Given the description of an element on the screen output the (x, y) to click on. 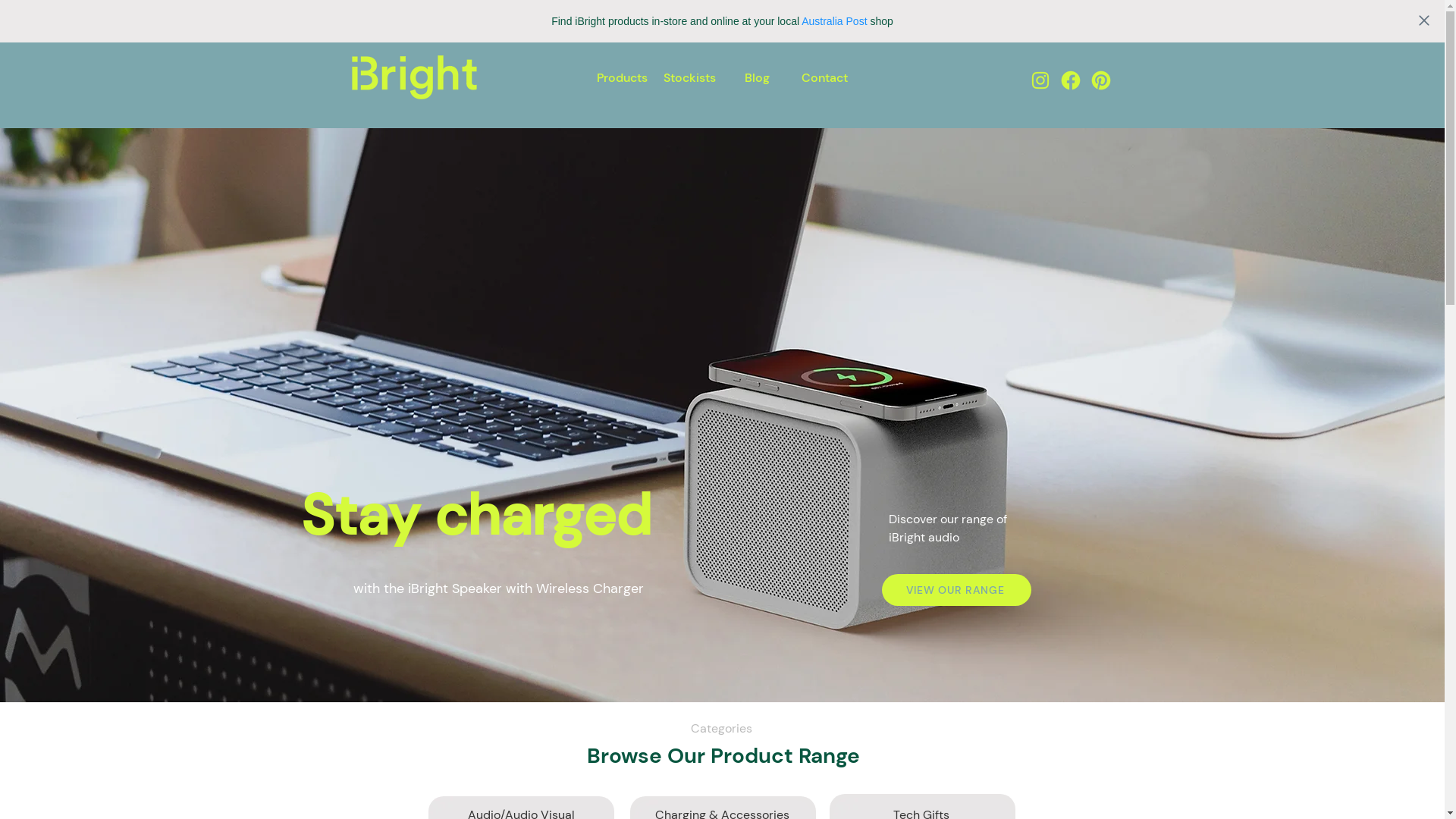
iBright Logo Element type: hover (413, 77)
Products Element type: text (621, 77)
VIEW OUR RANGE Element type: text (956, 589)
Blog Element type: text (756, 77)
Stockists Element type: text (688, 77)
Contact Element type: text (823, 77)
Australia Post Element type: text (833, 21)
